Given the description of an element on the screen output the (x, y) to click on. 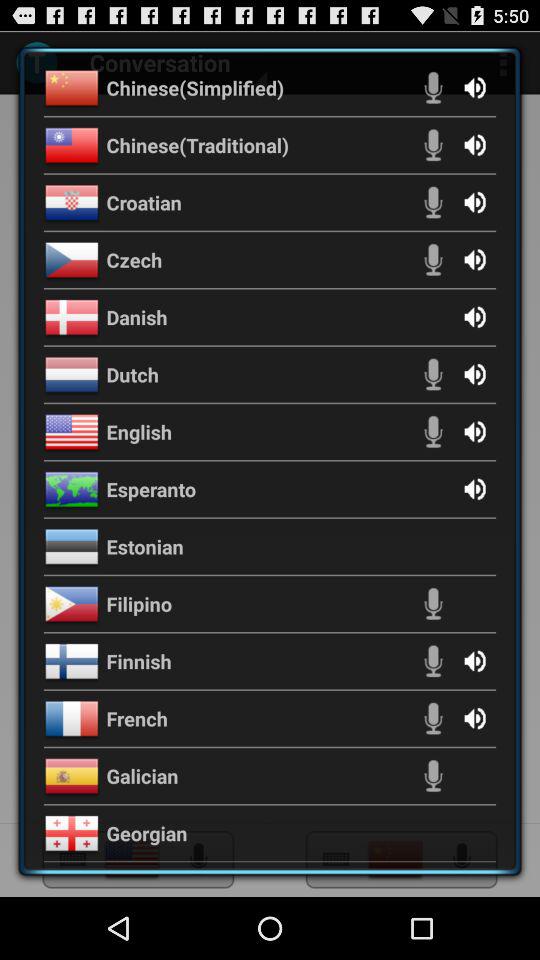
scroll to the georgian item (146, 833)
